Given the description of an element on the screen output the (x, y) to click on. 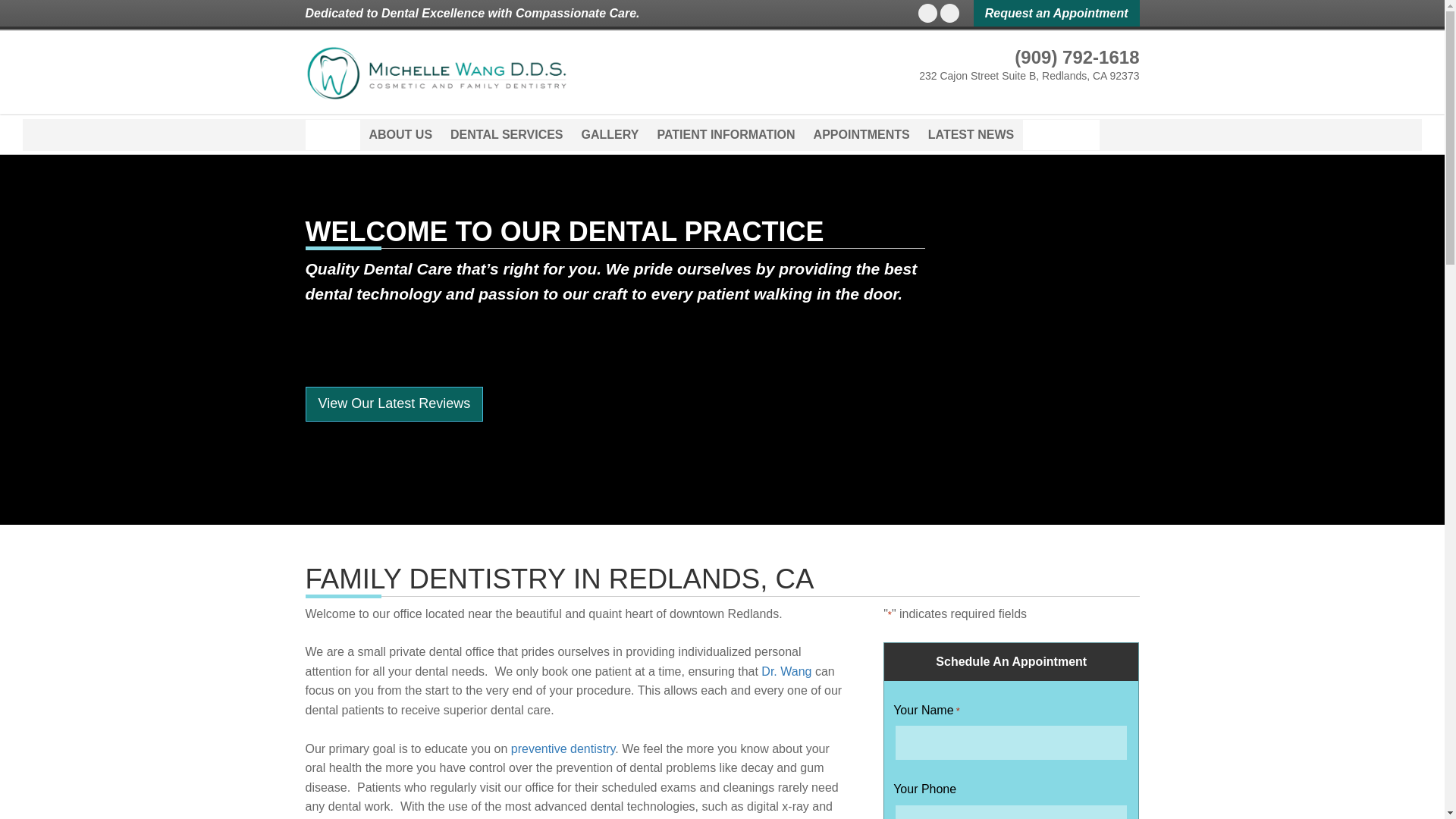
View Our Latest Reviews (393, 403)
PATIENT INFORMATION (725, 134)
Michelle Wang DDS (435, 72)
View Our Latest Reviews (393, 403)
APPOINTMENTS (861, 134)
ABOUT US (400, 134)
LATEST NEWS (970, 134)
Request an Appointment (1057, 13)
Dr. Wang (785, 671)
CONTACT (1061, 134)
